Given the description of an element on the screen output the (x, y) to click on. 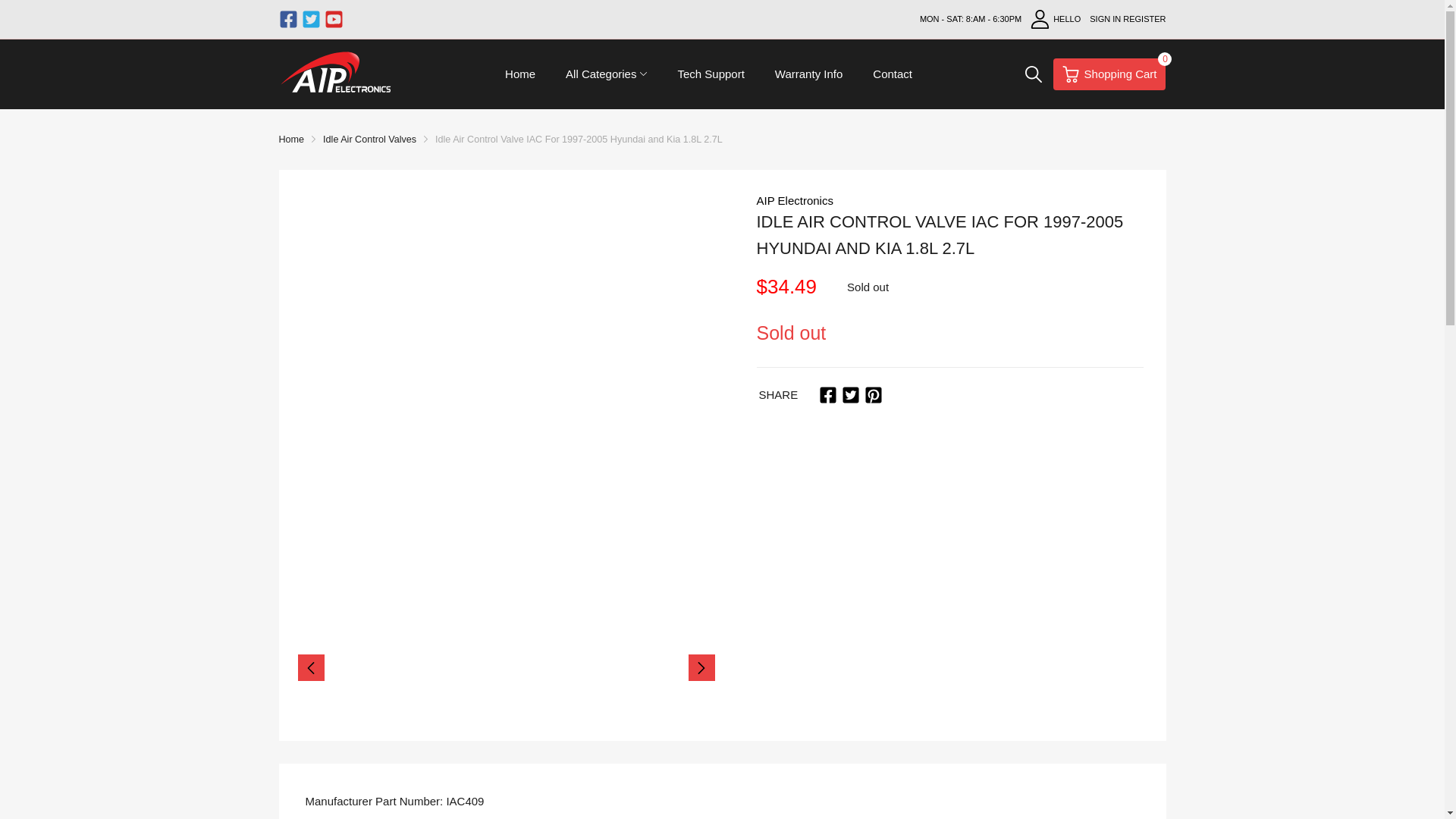
Tech Support (710, 74)
HELLO (1055, 19)
Idle Air Control Valves (1109, 74)
Home (426, 818)
Youtube (291, 139)
Facebook (333, 18)
Twitter (288, 18)
REGISTER (310, 18)
Facebook (1144, 18)
Idle Air Control Valves (827, 394)
Twitter (369, 139)
SIGN IN (850, 394)
All Categories (1105, 18)
Warranty Info (601, 74)
